Given the description of an element on the screen output the (x, y) to click on. 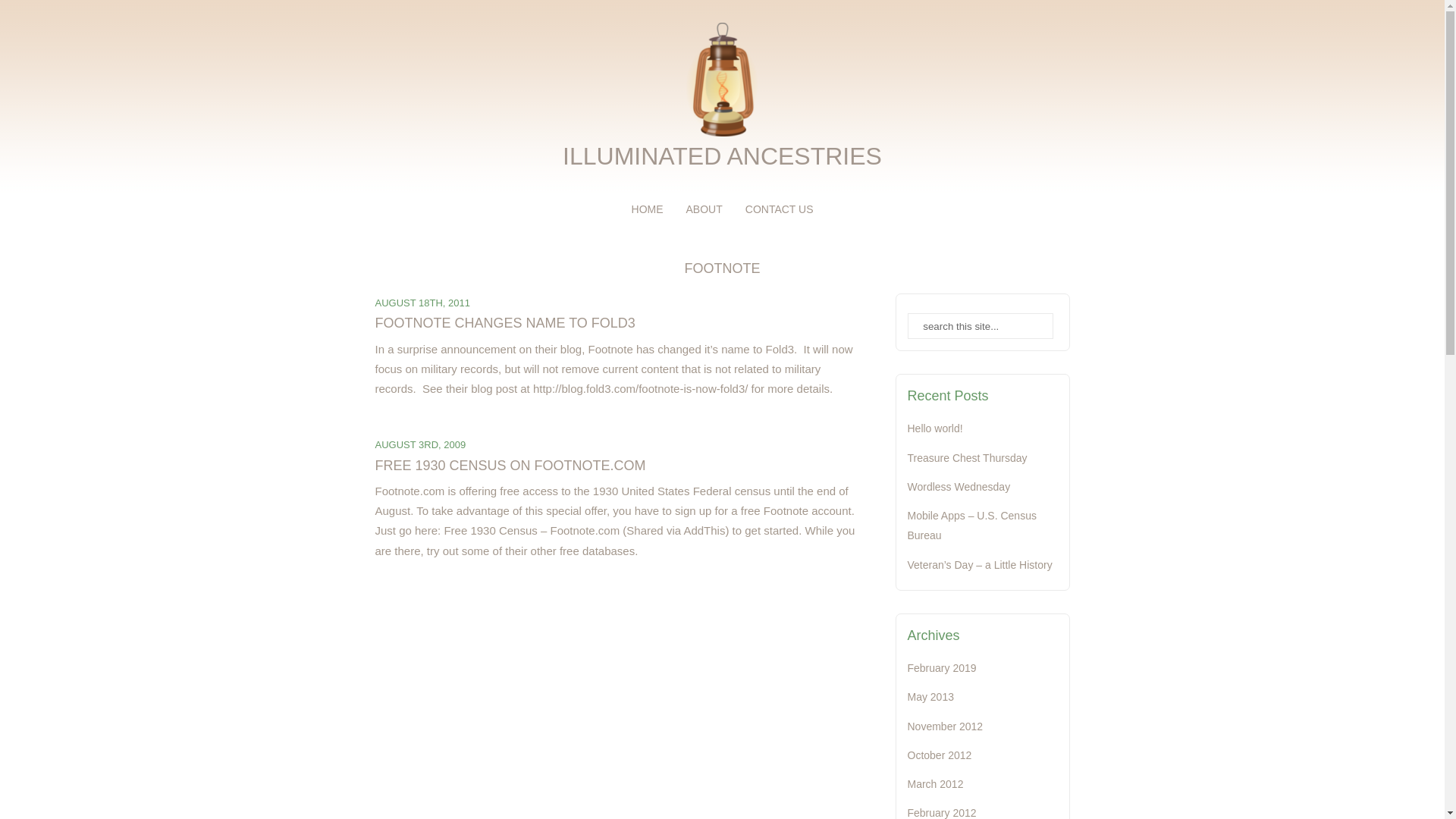
Hello world! (934, 428)
FOOTNOTE CHANGES NAME TO FOLD3 (504, 322)
CONTACT US (779, 209)
FREE 1930 CENSUS ON FOOTNOTE.COM (509, 465)
February 2019 (941, 667)
ILLUMINATED ANCESTRIES (721, 164)
November 2012 (944, 726)
HOME (647, 209)
Wordless Wednesday (958, 486)
February 2012 (941, 812)
